Given the description of an element on the screen output the (x, y) to click on. 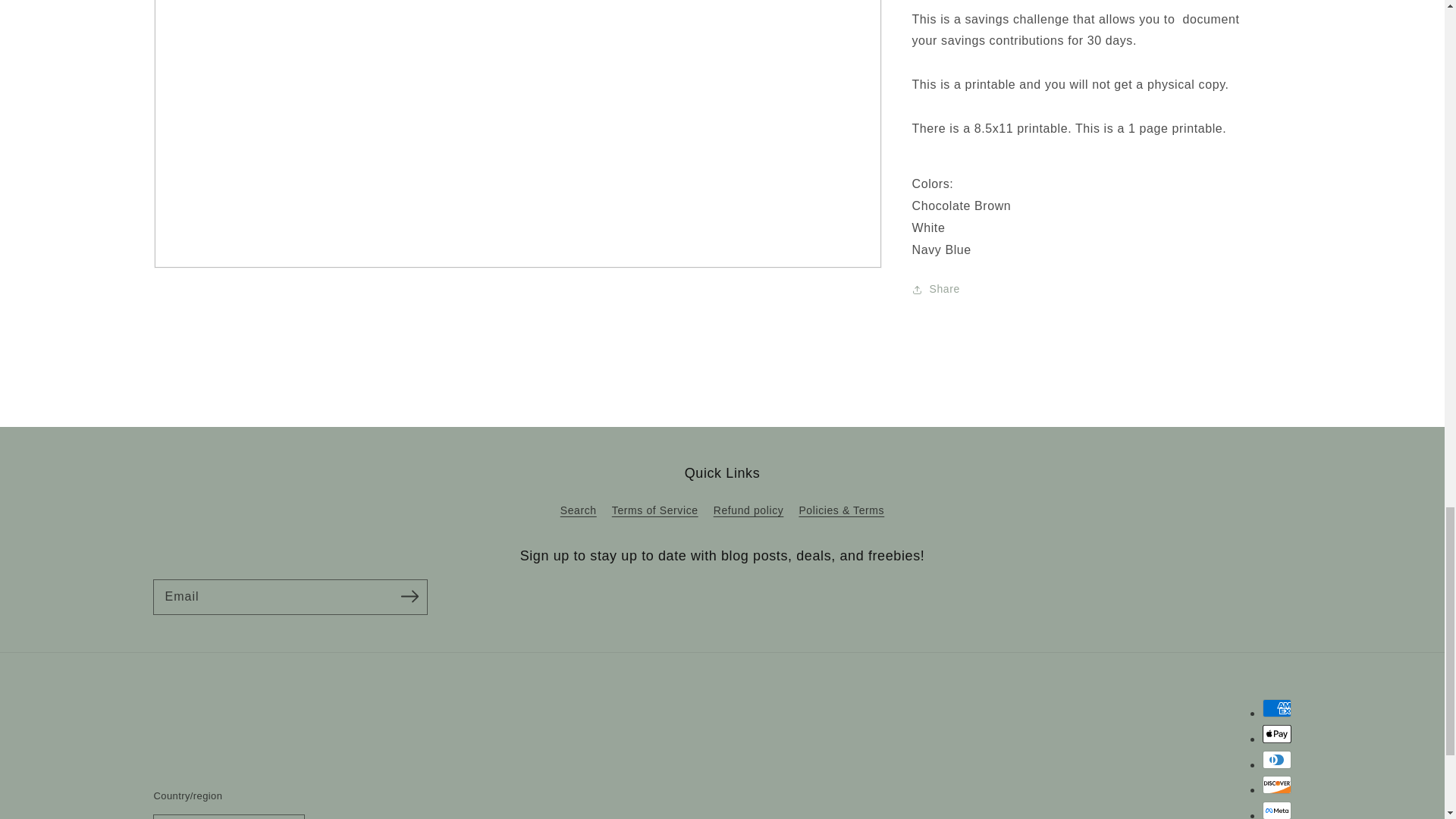
Terms of Service (654, 510)
Discover (1276, 784)
Search (578, 512)
Refund policy (748, 510)
American Express (1276, 708)
Meta Pay (1276, 810)
Diners Club (1276, 760)
Apple Pay (1276, 733)
